Given the description of an element on the screen output the (x, y) to click on. 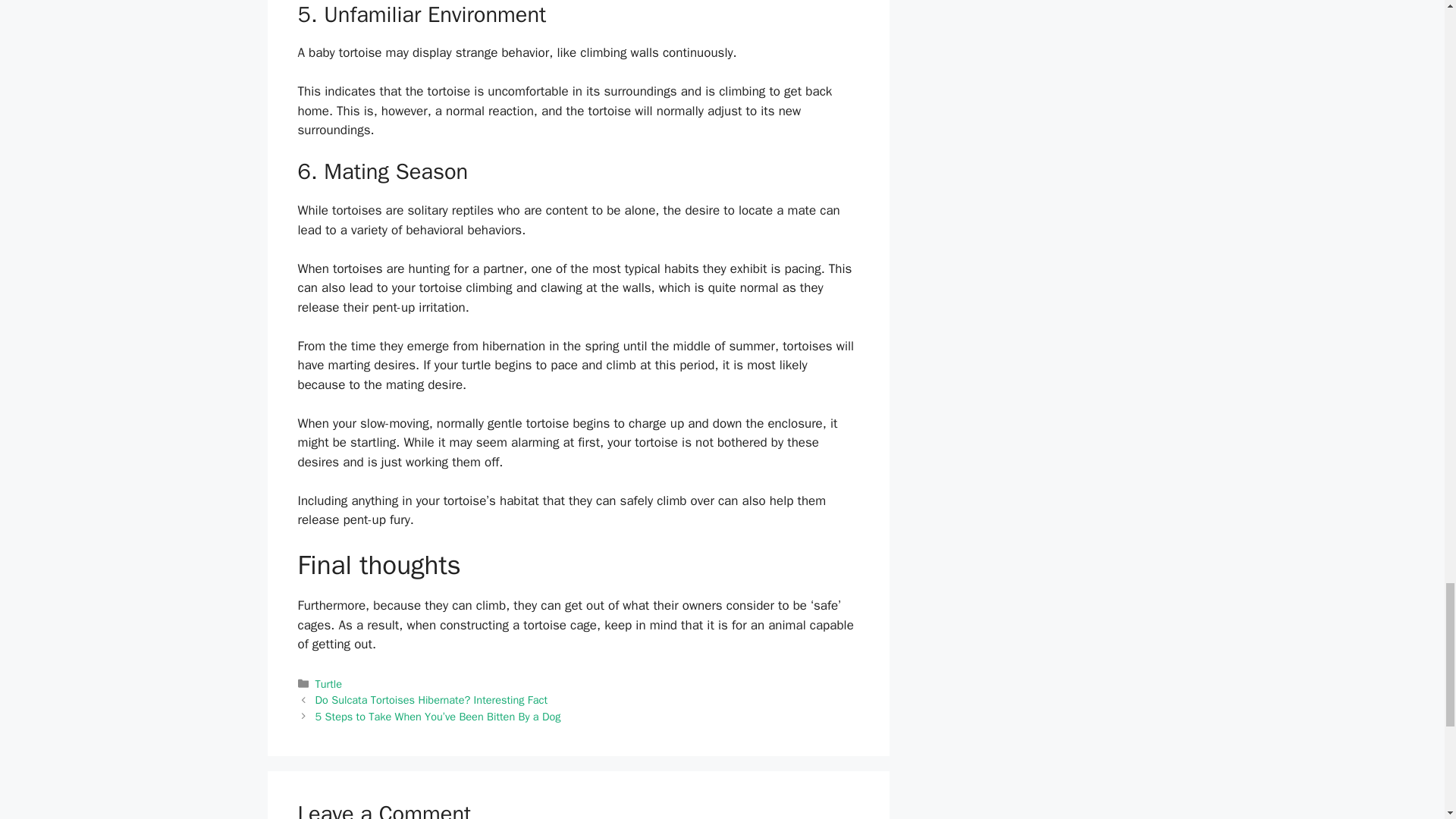
Do Sulcata Tortoises Hibernate? Interesting Fact (431, 699)
Turtle (328, 684)
